Given the description of an element on the screen output the (x, y) to click on. 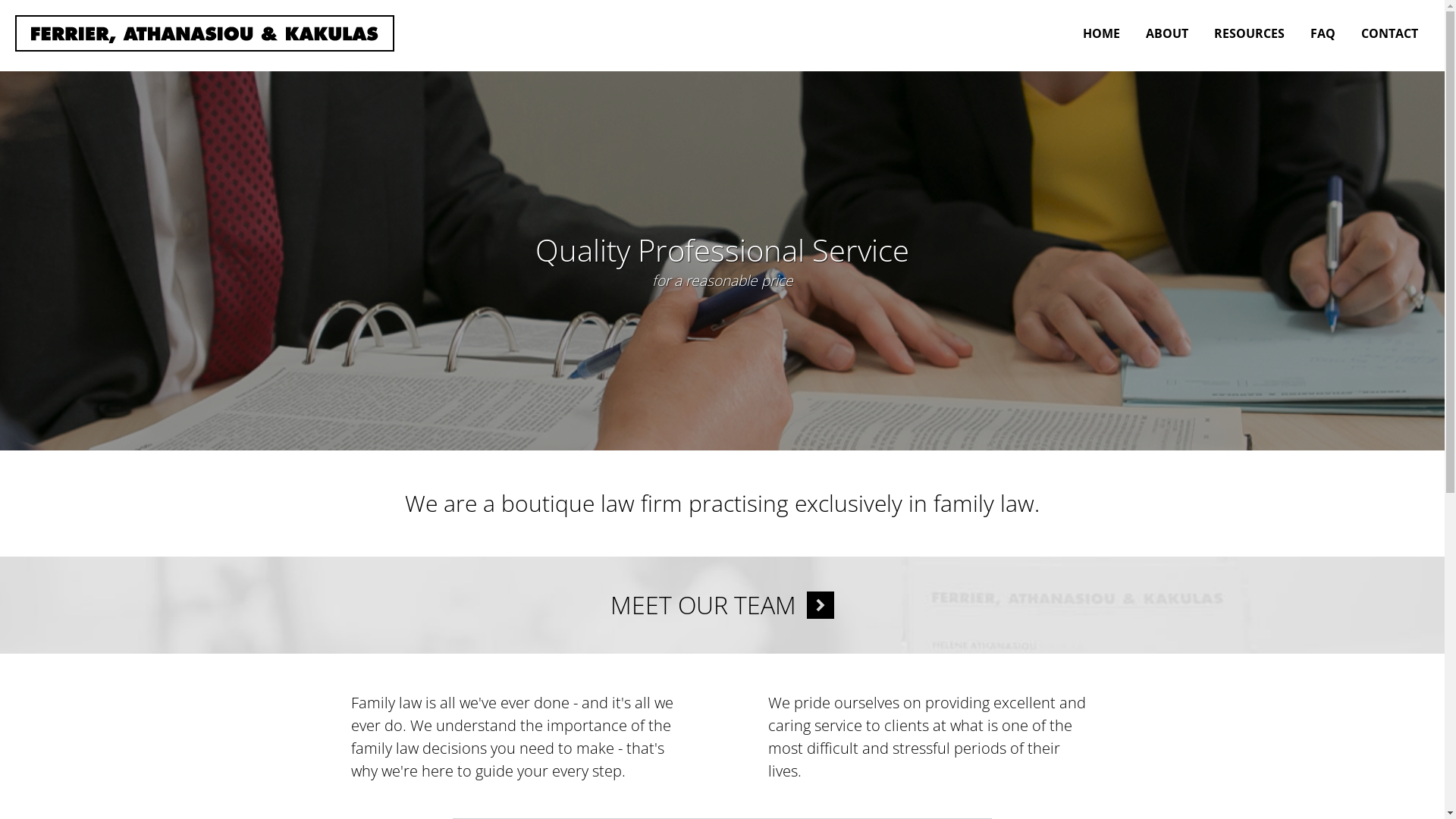
Ferrier, Athanasiou & Kakulas Element type: hover (204, 33)
HOME Element type: text (1101, 33)
MEET OUR TEAM Element type: text (722, 604)
ABOUT Element type: text (1166, 33)
CONTACT Element type: text (1389, 33)
RESOURCES Element type: text (1248, 33)
FAQ Element type: text (1322, 33)
